Given the description of an element on the screen output the (x, y) to click on. 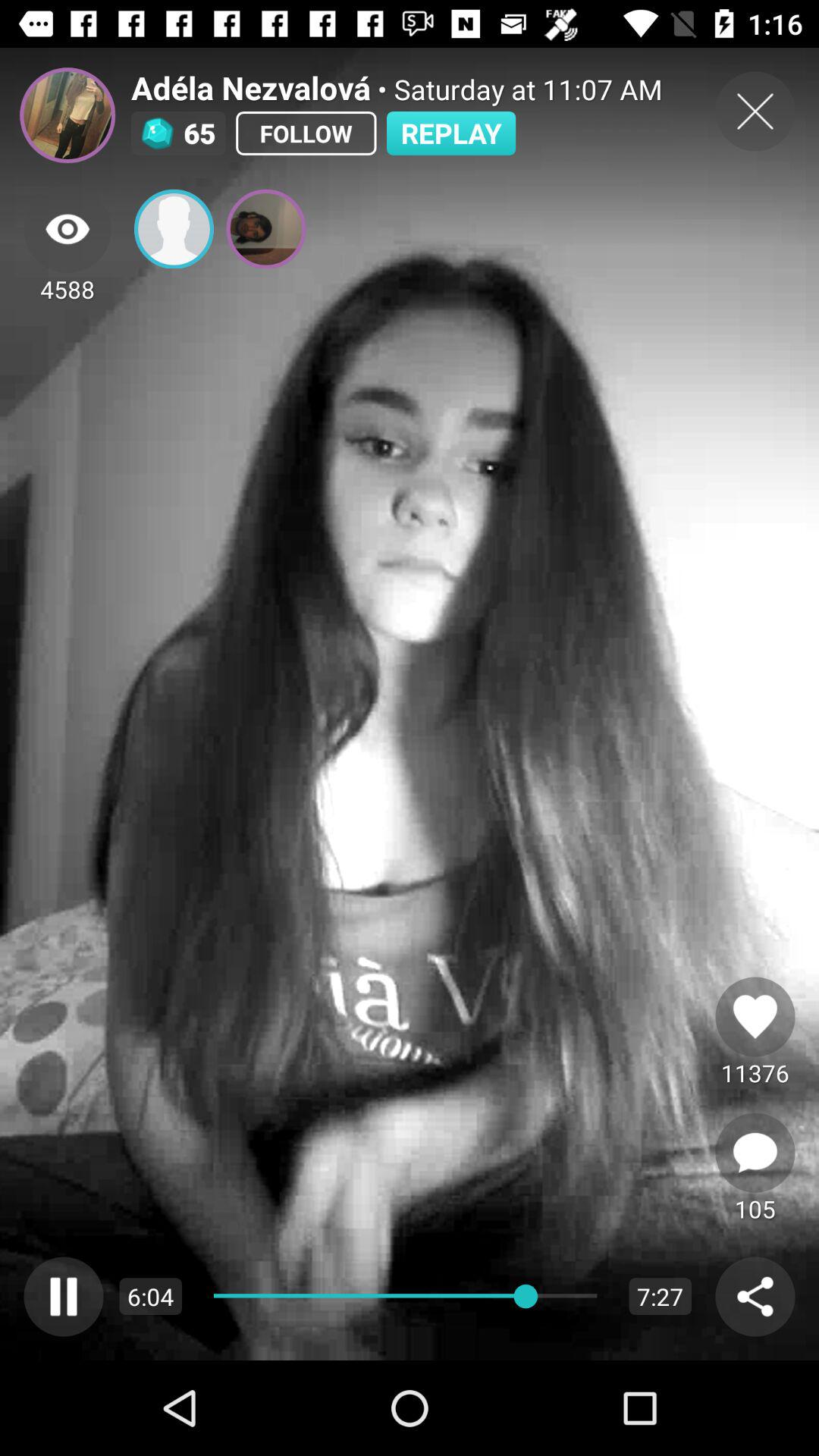
click the message option (755, 1152)
